Given the description of an element on the screen output the (x, y) to click on. 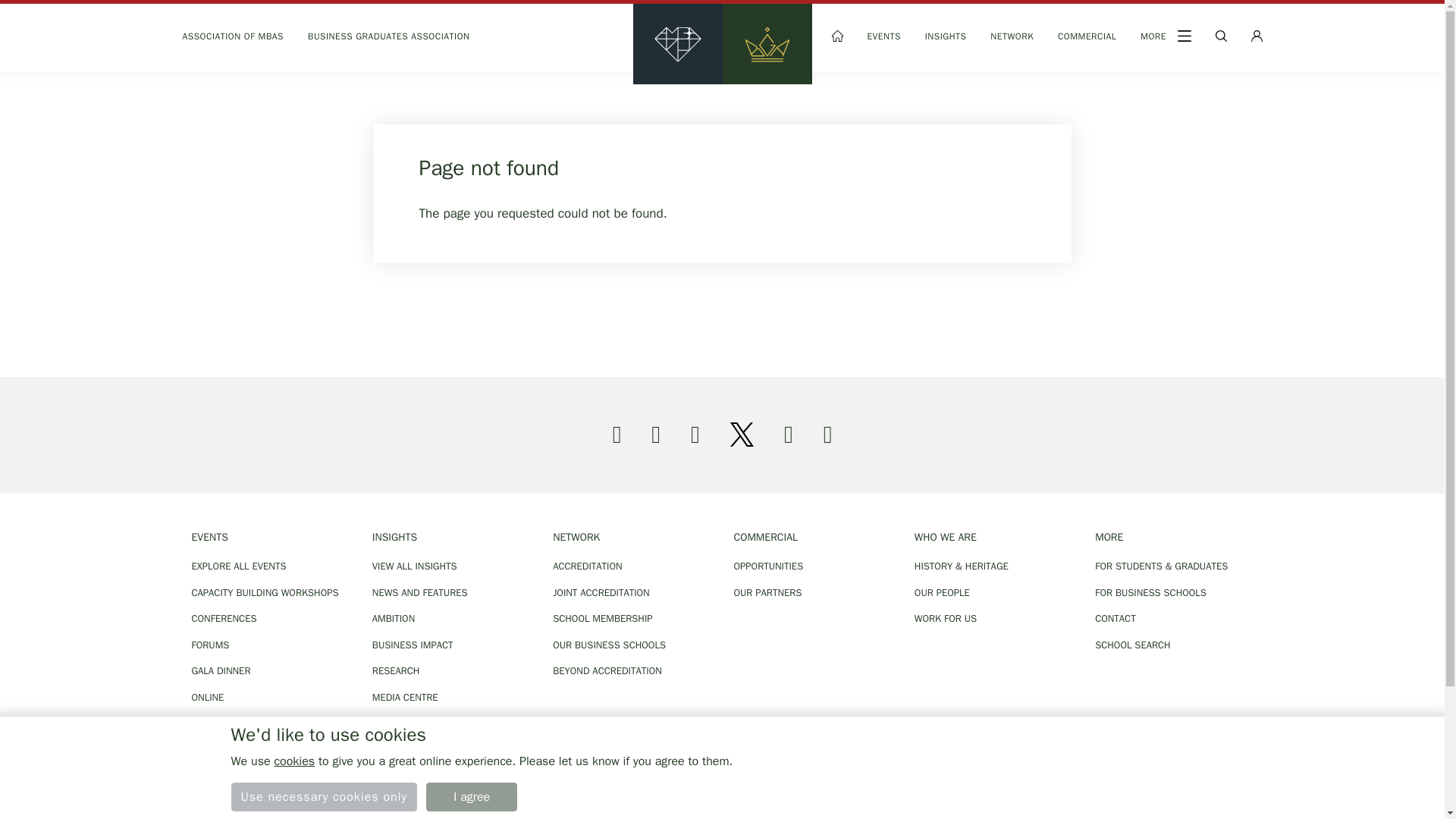
BEYOND ACCREDITATION (631, 670)
EXPLORE ALL EVENTS (269, 566)
More  (1166, 38)
OUR PARTNERS (812, 592)
CONFERENCES (269, 618)
Twitter (742, 433)
INSIGHTS (945, 38)
Commercial (1086, 38)
NEWS AND FEATURES (450, 592)
Network (1011, 38)
